Given the description of an element on the screen output the (x, y) to click on. 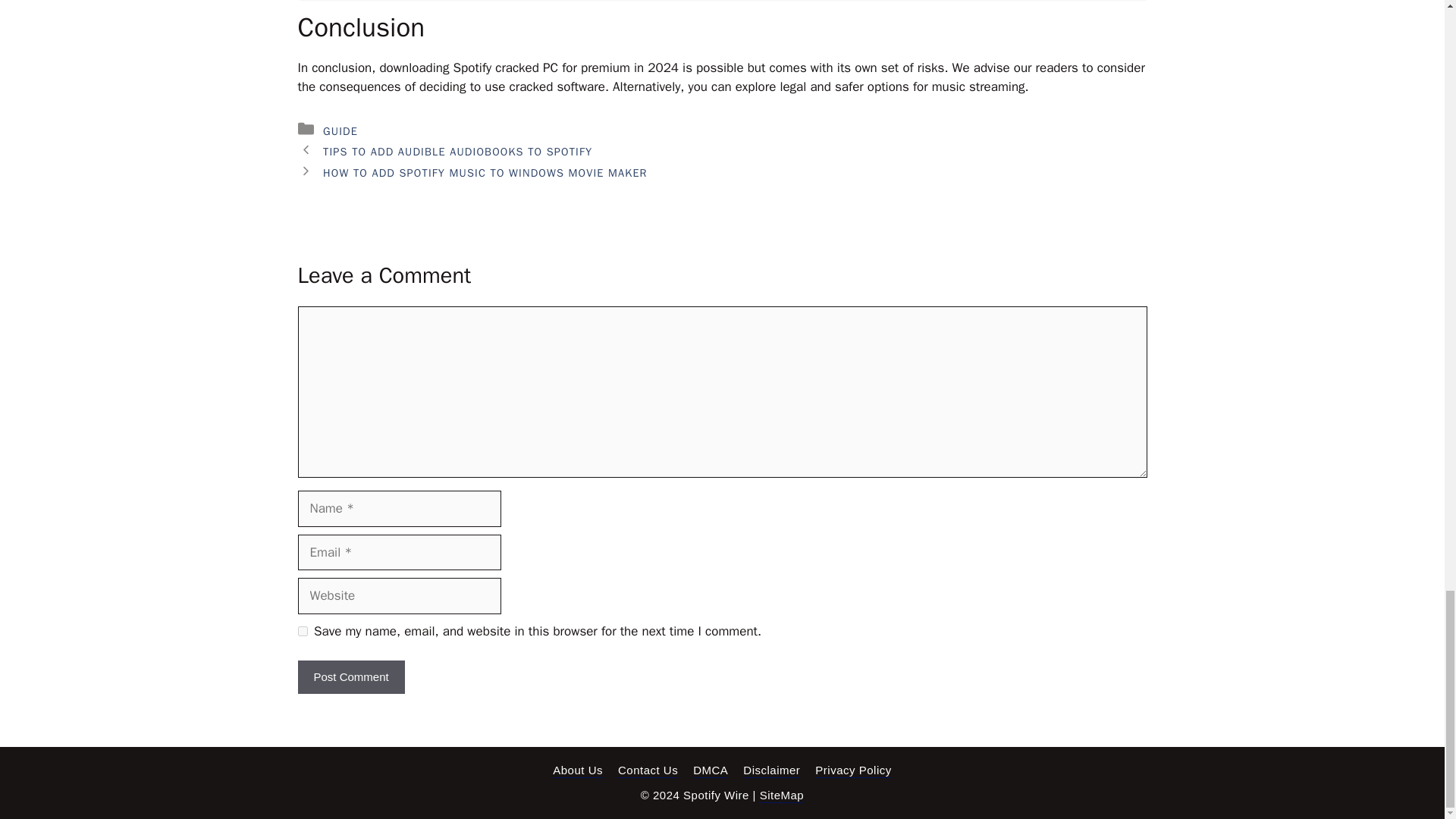
Privacy Policy (853, 770)
HOW TO ADD SPOTIFY MUSIC TO WINDOWS MOVIE MAKER (485, 172)
Post Comment (350, 677)
TIPS TO ADD AUDIBLE AUDIOBOOKS TO SPOTIFY (457, 151)
GUIDE (340, 131)
Disclaimer (770, 770)
SiteMap (782, 795)
Post Comment (350, 677)
DMCA (710, 770)
About Us (577, 770)
yes (302, 631)
Contact Us (647, 770)
